Given the description of an element on the screen output the (x, y) to click on. 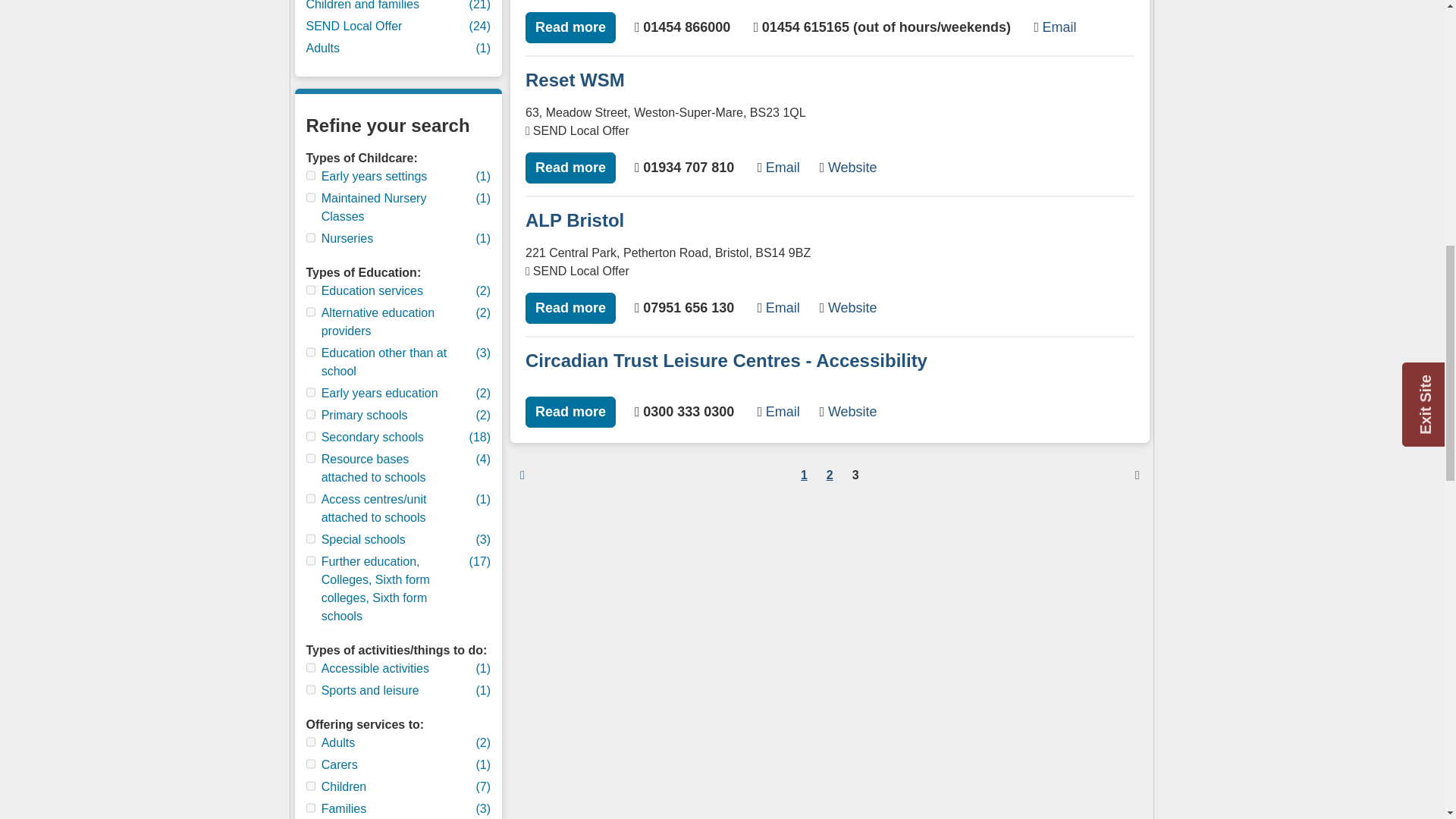
Children and families (379, 6)
5 (310, 786)
16 (310, 392)
9 (310, 560)
4 (310, 458)
1 (310, 289)
Adults (379, 48)
3 (310, 237)
SEND Local Offer (379, 26)
1 (310, 175)
2 (310, 414)
6 (310, 538)
2 (310, 689)
5 (310, 498)
Send an email (778, 166)
